Given the description of an element on the screen output the (x, y) to click on. 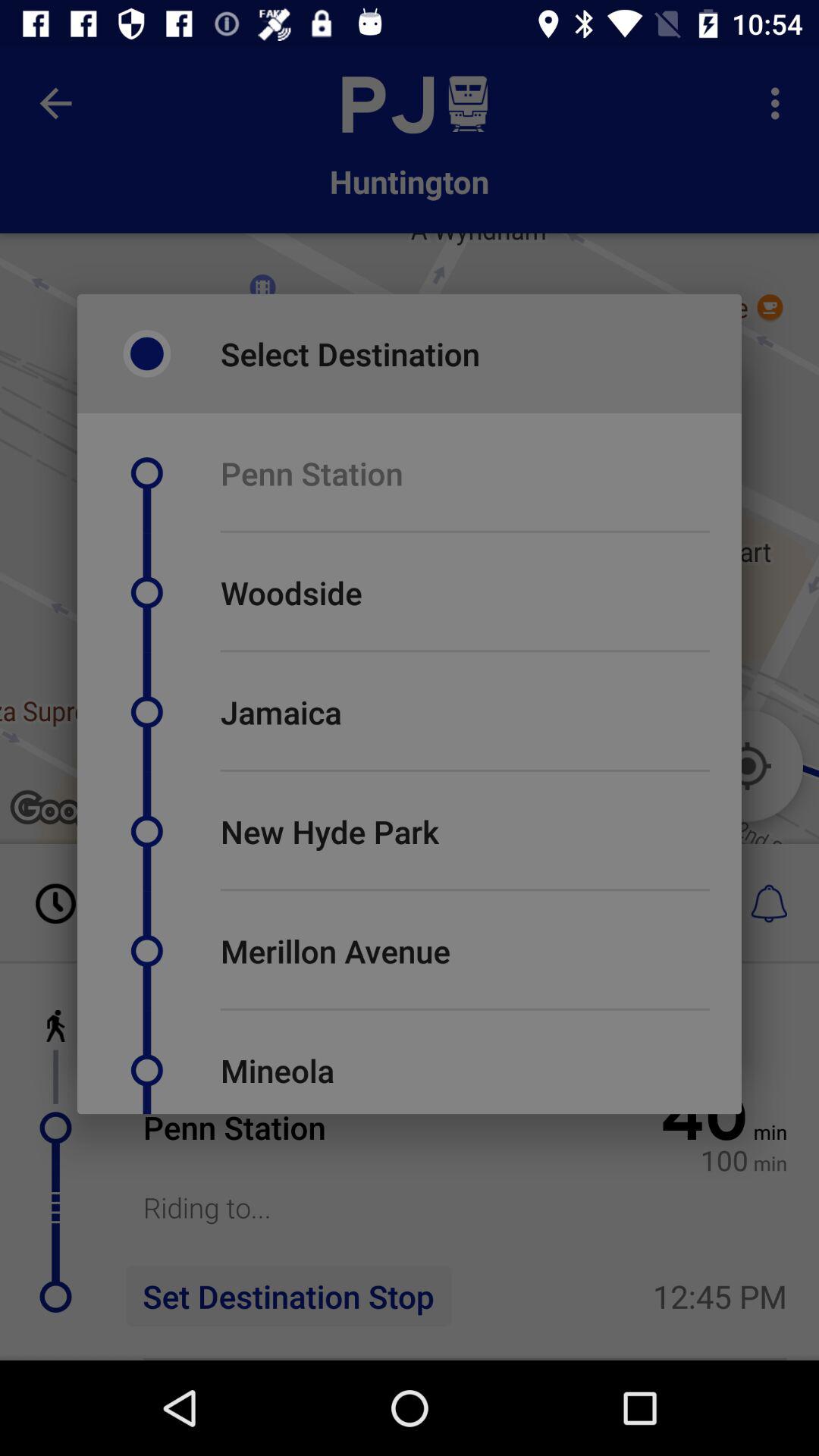
launch item below the woodside item (464, 651)
